Given the description of an element on the screen output the (x, y) to click on. 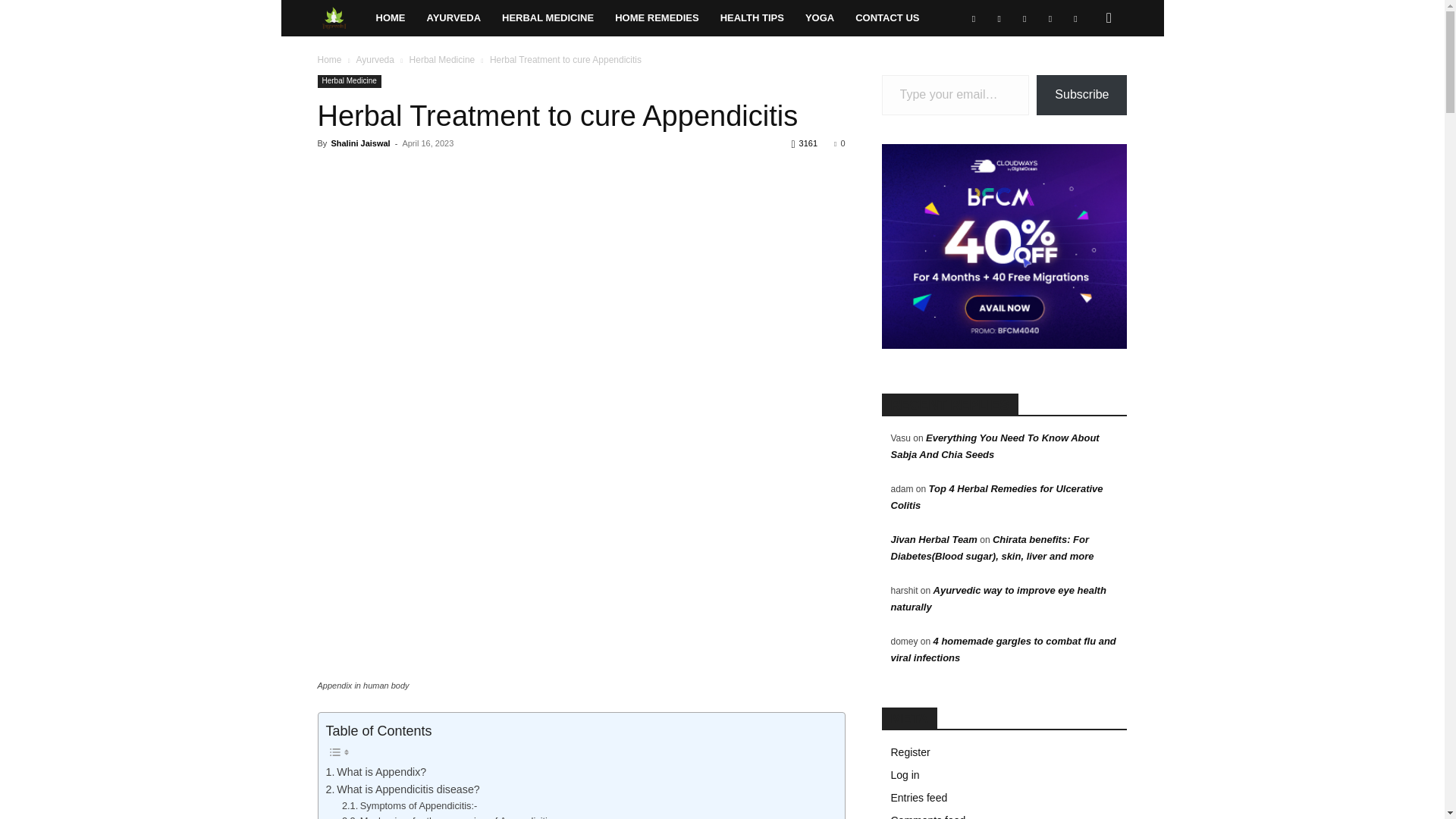
HOME (390, 18)
Theayurveda (341, 18)
Home (390, 18)
AYURVEDA (453, 18)
